Given the description of an element on the screen output the (x, y) to click on. 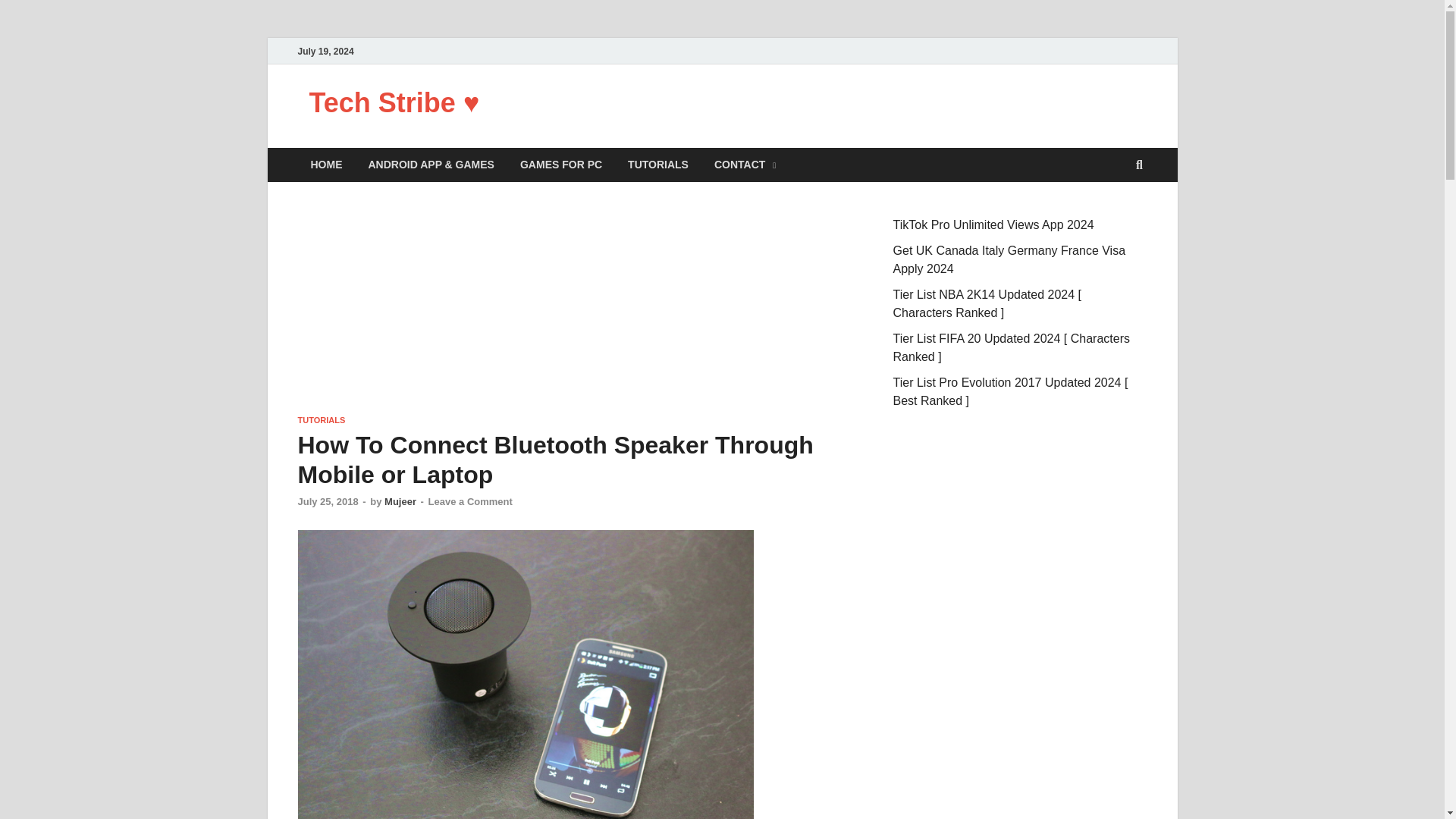
TUTORIALS (657, 164)
Mujeer (400, 501)
HOME (326, 164)
July 25, 2018 (327, 501)
TUTORIALS (321, 420)
CONTACT (745, 164)
Leave a Comment (470, 501)
GAMES FOR PC (560, 164)
